Given the description of an element on the screen output the (x, y) to click on. 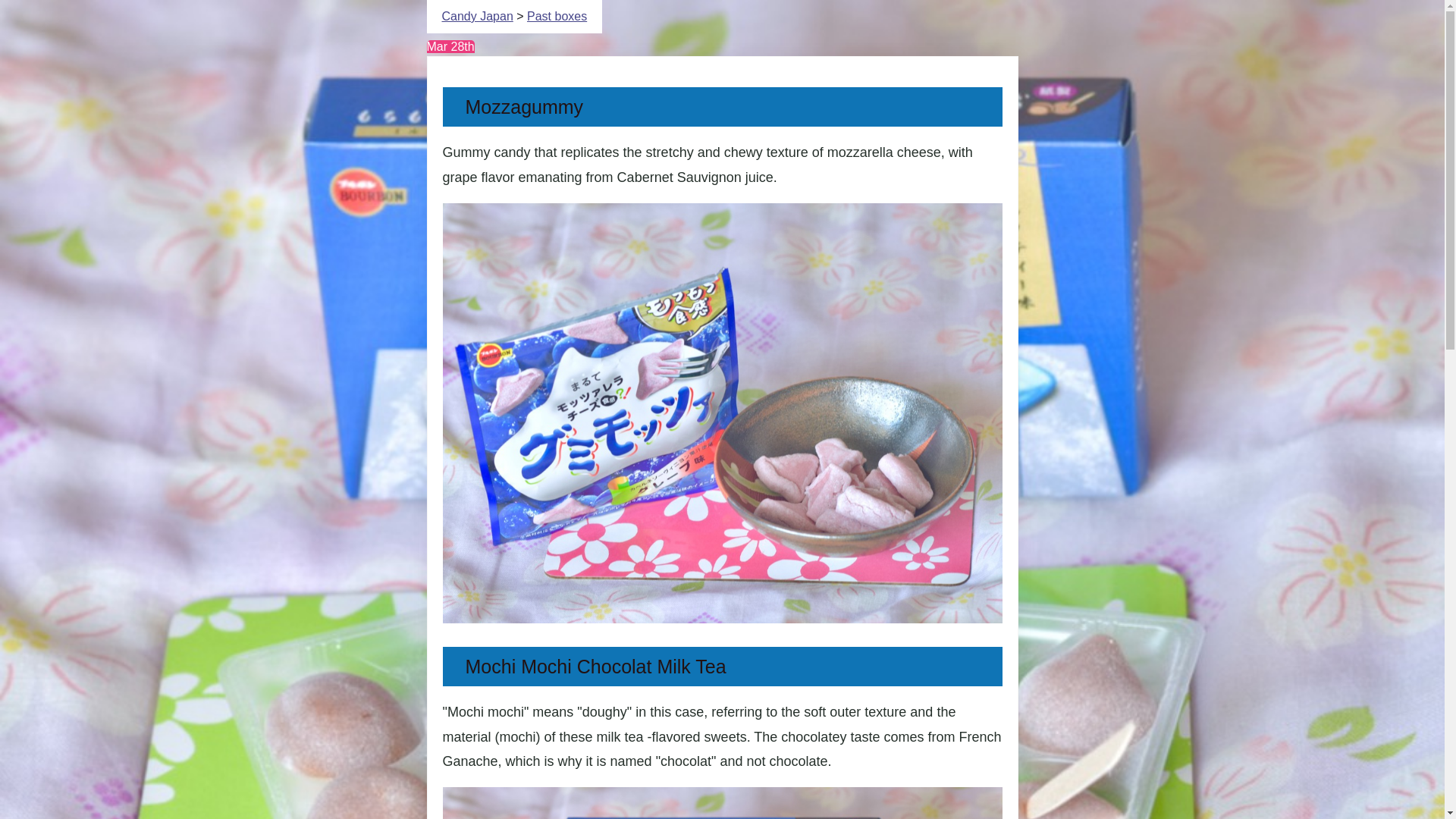
Past boxes (556, 15)
Candy Japan (476, 15)
